Given the description of an element on the screen output the (x, y) to click on. 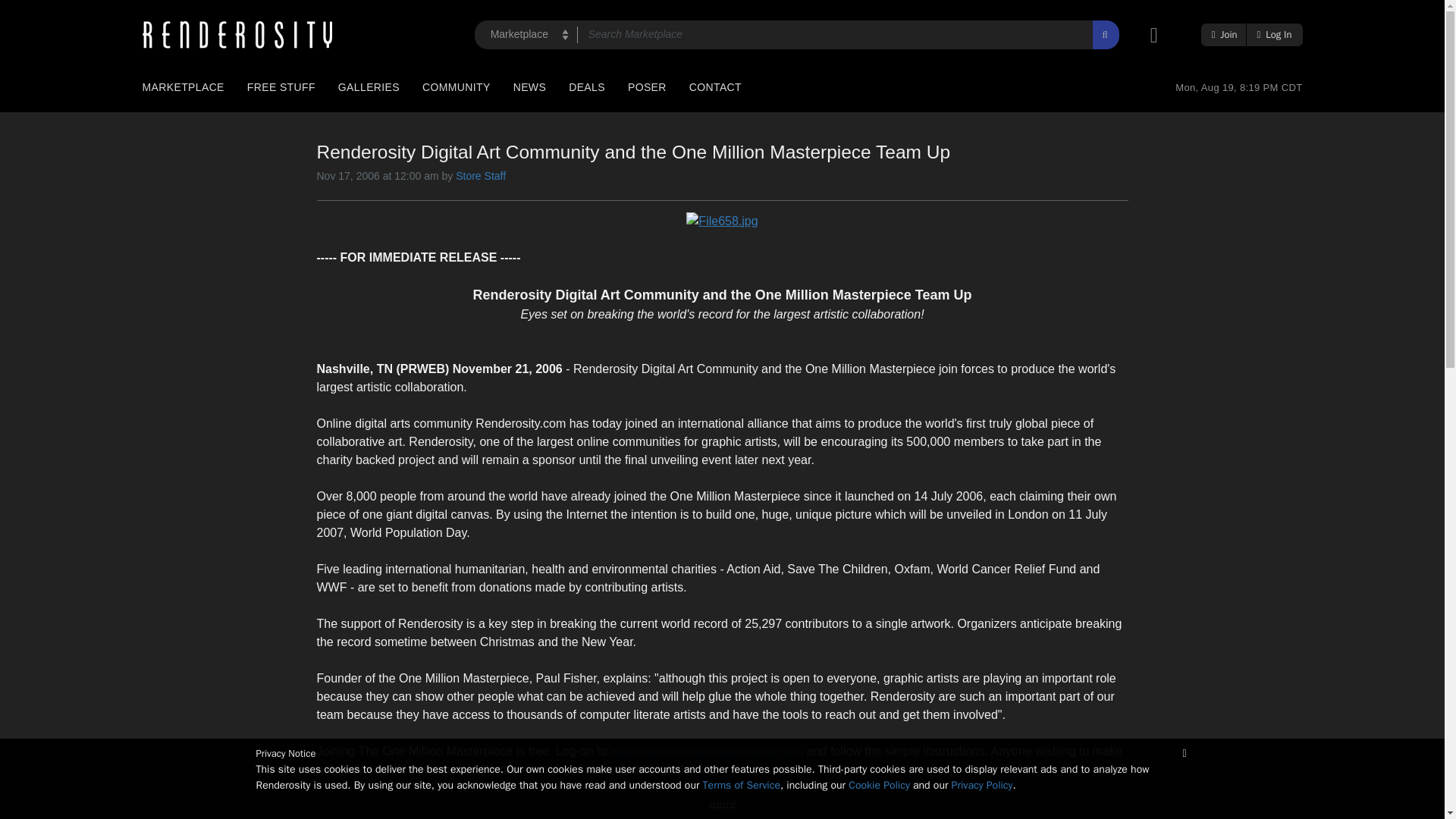
Your Cart (1159, 34)
Log In (1274, 34)
Join (1225, 34)
MARKETPLACE (182, 87)
